Given the description of an element on the screen output the (x, y) to click on. 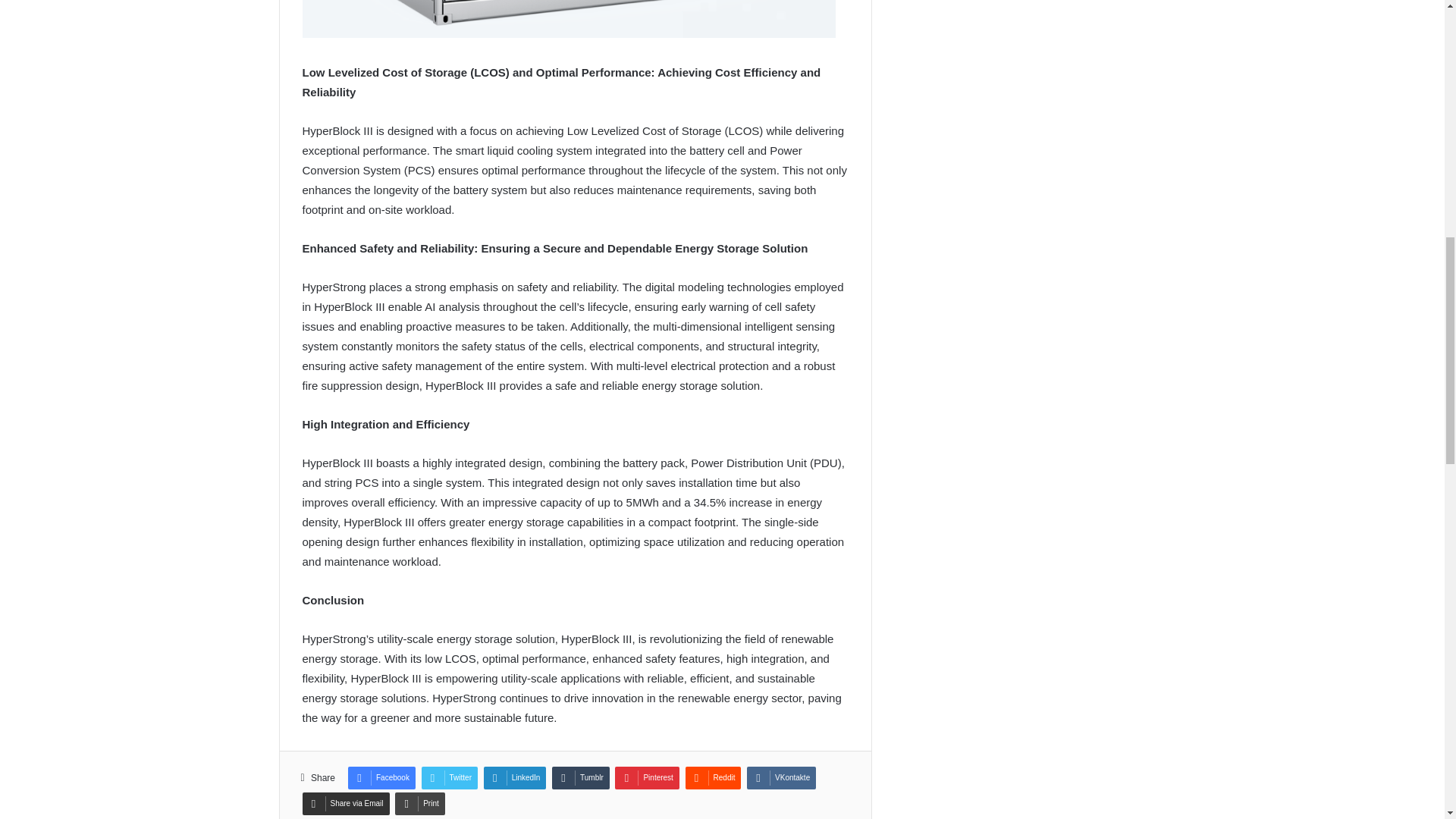
Twitter (449, 777)
LinkedIn (515, 777)
Facebook (380, 777)
Tumblr (580, 777)
